Given the description of an element on the screen output the (x, y) to click on. 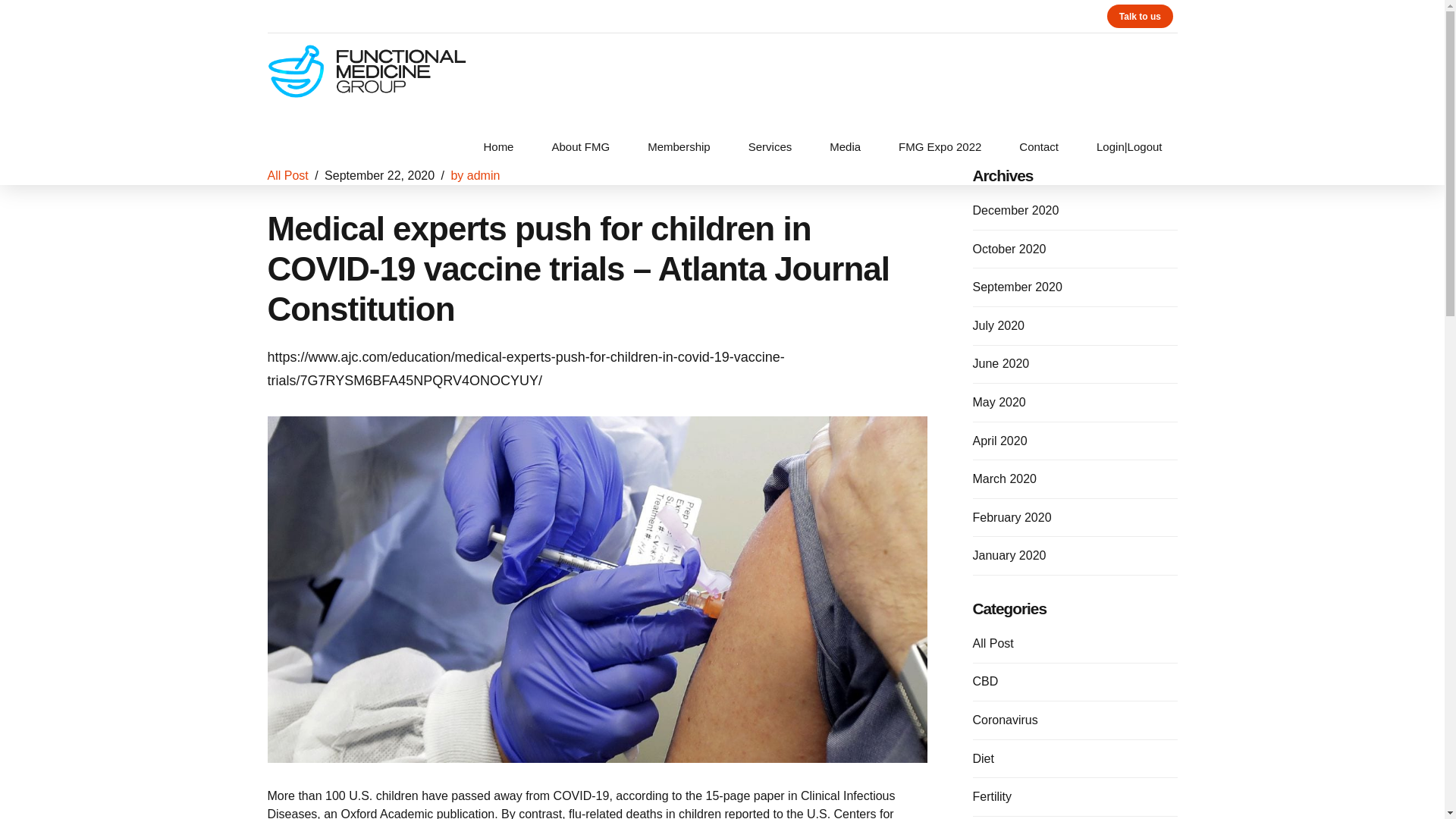
June 2020 (1000, 363)
Membership (678, 146)
About FMG (579, 146)
Talk to us (1139, 15)
All Post (286, 174)
Services (770, 146)
July 2020 (998, 325)
Media (844, 146)
September 2020 (1016, 287)
Contact (1039, 146)
